Given the description of an element on the screen output the (x, y) to click on. 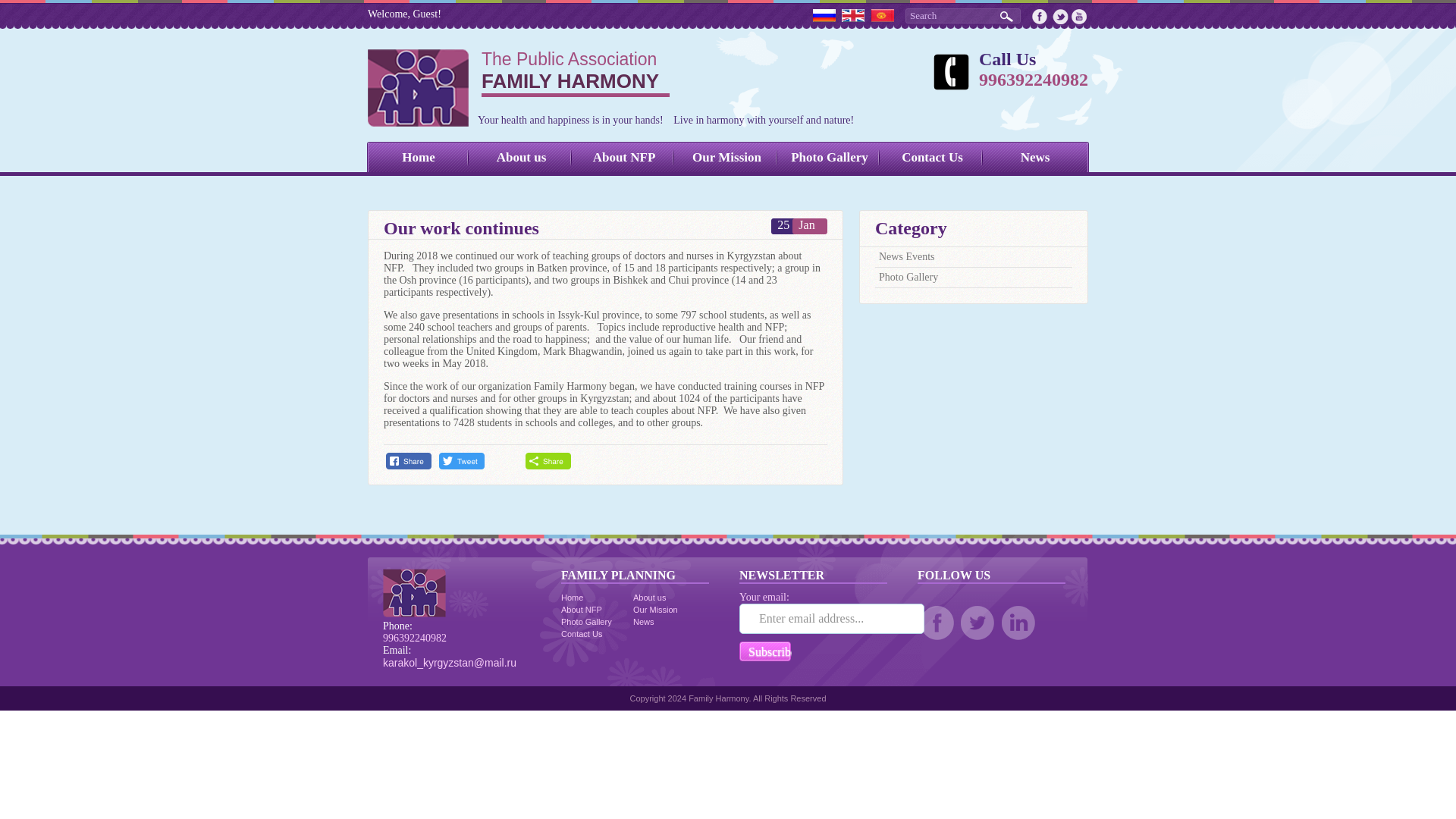
News (1034, 157)
Our Mission (726, 157)
Photo Gallery (908, 276)
YouTube (1078, 16)
News Events (906, 256)
Search (962, 15)
Photo Gallery (518, 87)
Twitter (828, 157)
Photo Gallery (1059, 16)
Our Mission (585, 621)
The Public Association Family Harmony (655, 609)
Contact Us (518, 87)
About NFP (932, 157)
Enter email address... (581, 609)
